Given the description of an element on the screen output the (x, y) to click on. 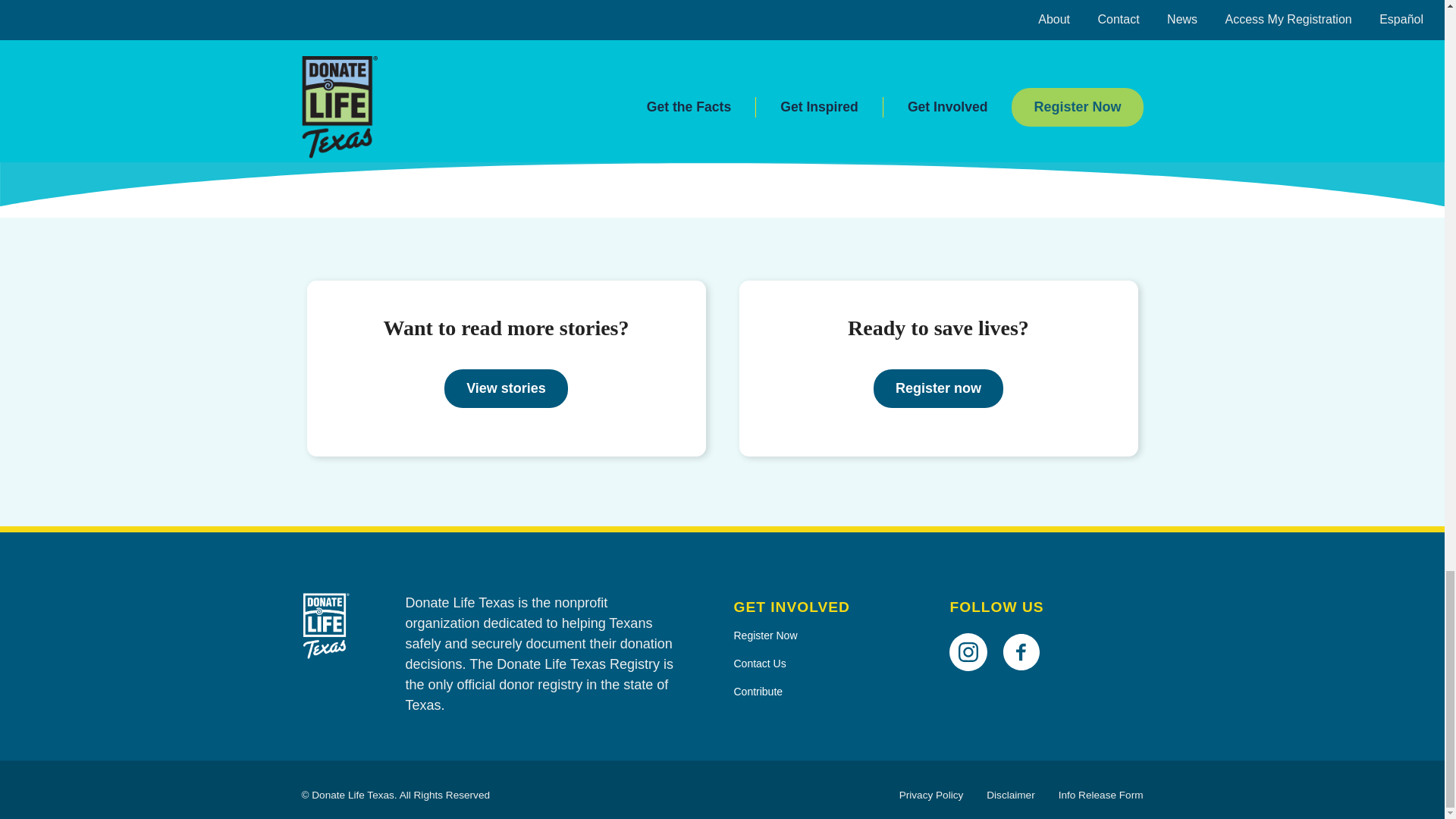
View stories (505, 388)
Facebook - Donate Life Texas (1027, 630)
Register now (938, 388)
Register Now (829, 635)
Instagram - Donate Life Texas (973, 630)
Uncategorized (382, 123)
